Given the description of an element on the screen output the (x, y) to click on. 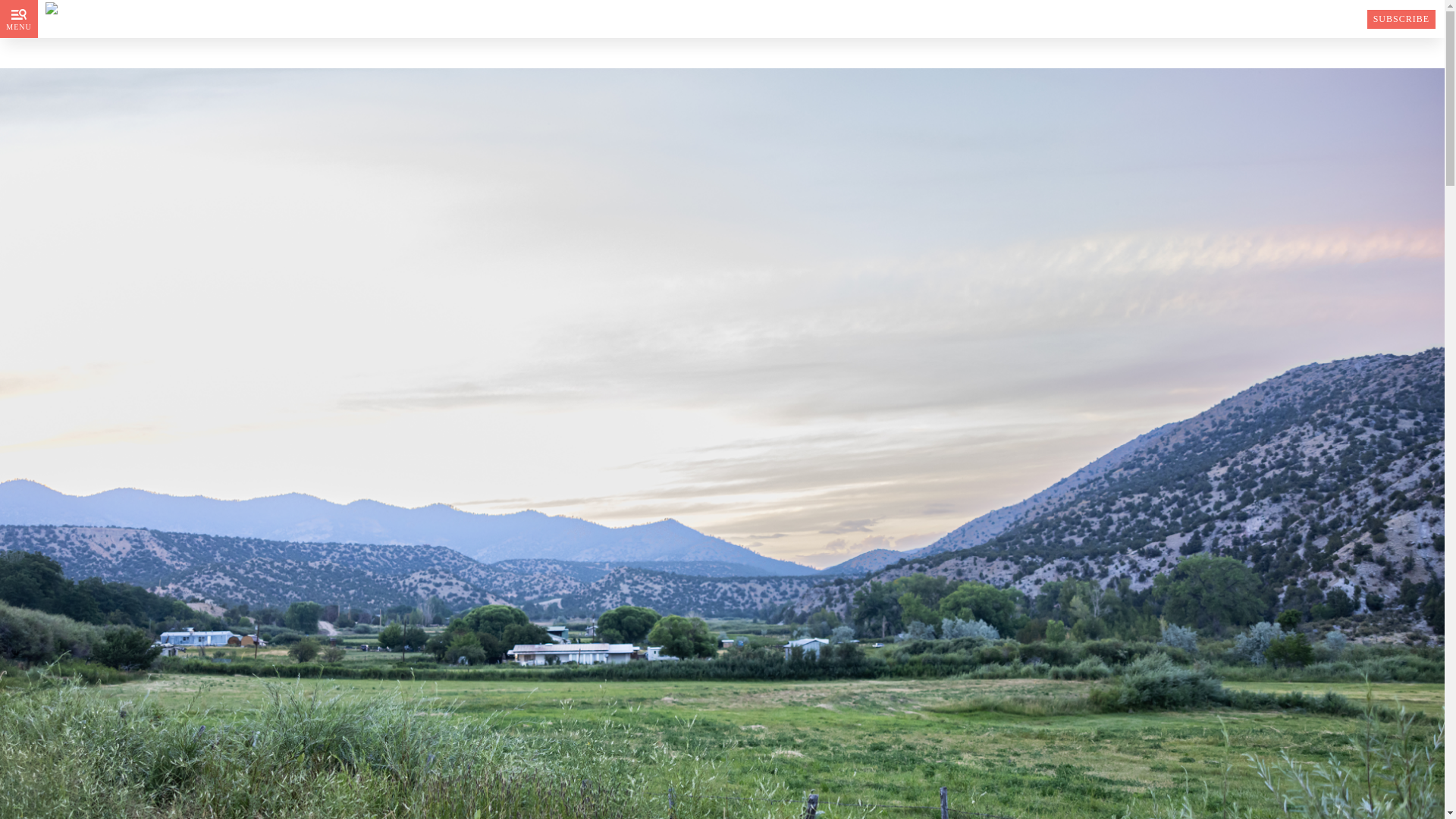
MENU (18, 18)
